Given the description of an element on the screen output the (x, y) to click on. 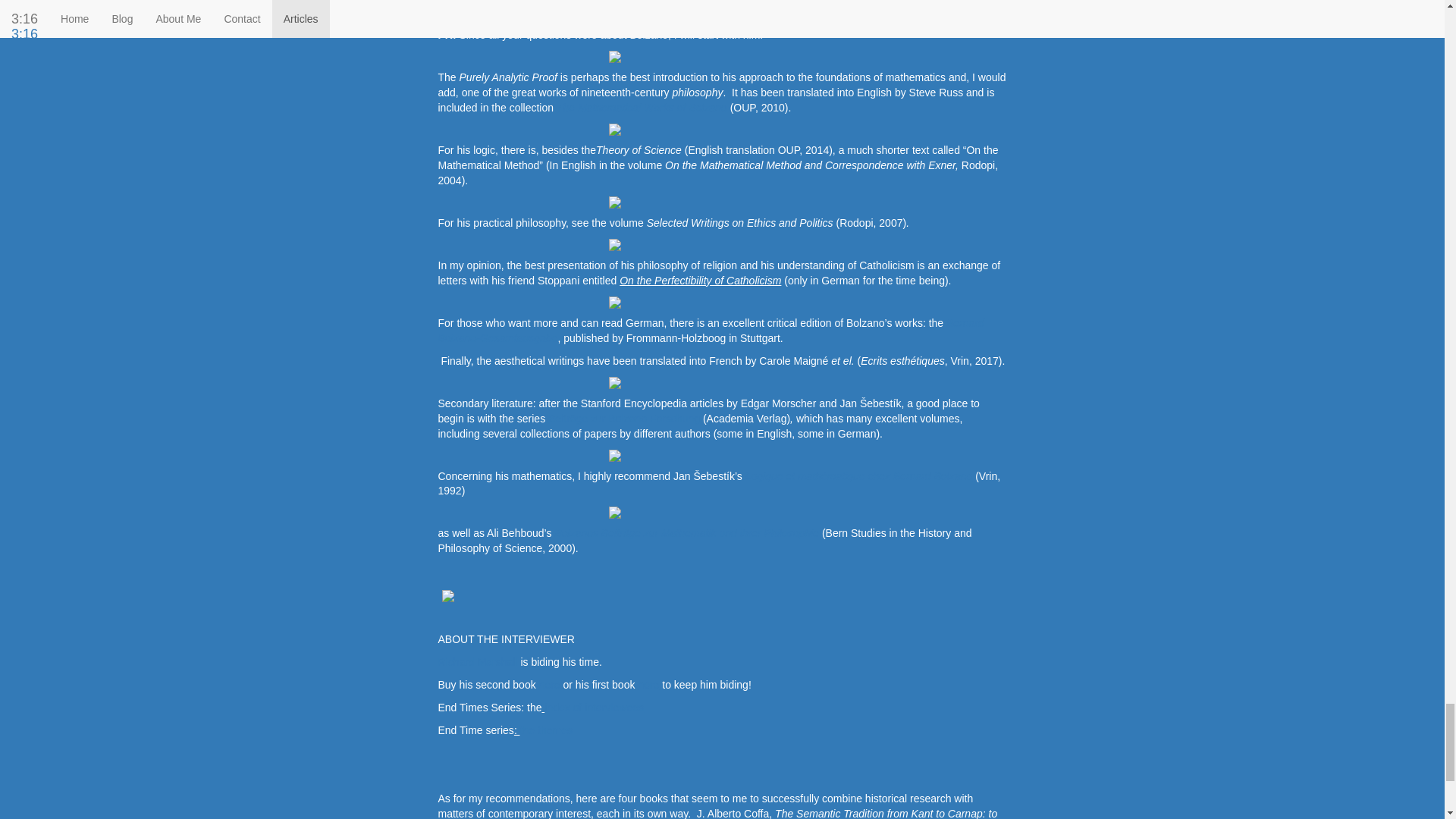
here (549, 684)
 Bernard Bolzano-Gesamtausgabe (711, 329)
Richard Marshall (478, 662)
The Mathematical Works of Bolzano  (643, 107)
the themes (545, 729)
here (648, 684)
index of interviewees (593, 707)
